Given the description of an element on the screen output the (x, y) to click on. 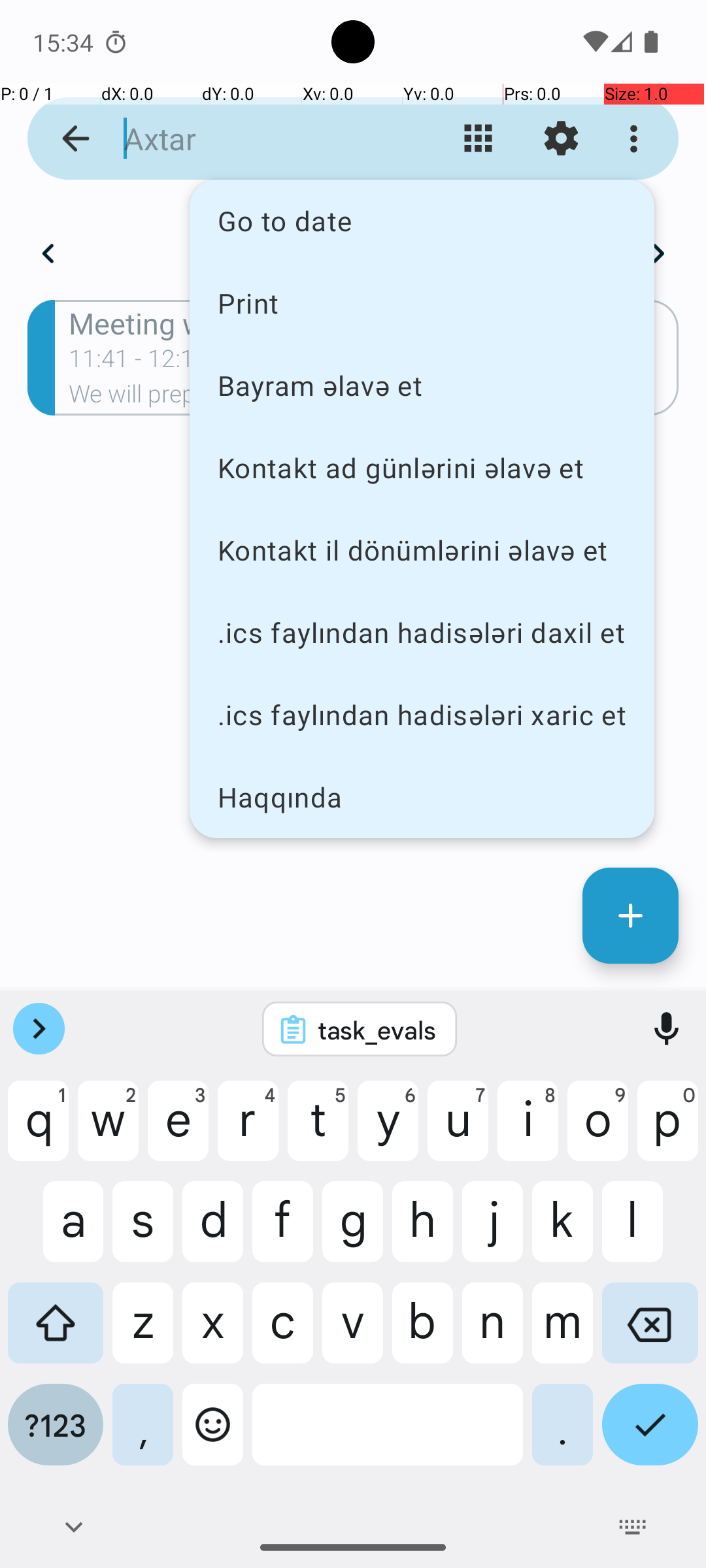
Go to date Element type: android.widget.TextView (421, 220)
Bayram əlavə et Element type: android.widget.TextView (421, 384)
Kontakt ad günlərini əlavə et Element type: android.widget.TextView (421, 467)
Kontakt il dönümlərini əlavə et Element type: android.widget.TextView (421, 549)
.ics faylından hadisələri daxil et Element type: android.widget.TextView (421, 631)
.ics faylından hadisələri xaric et Element type: android.widget.TextView (421, 714)
Haqqında Element type: android.widget.TextView (421, 796)
